Given the description of an element on the screen output the (x, y) to click on. 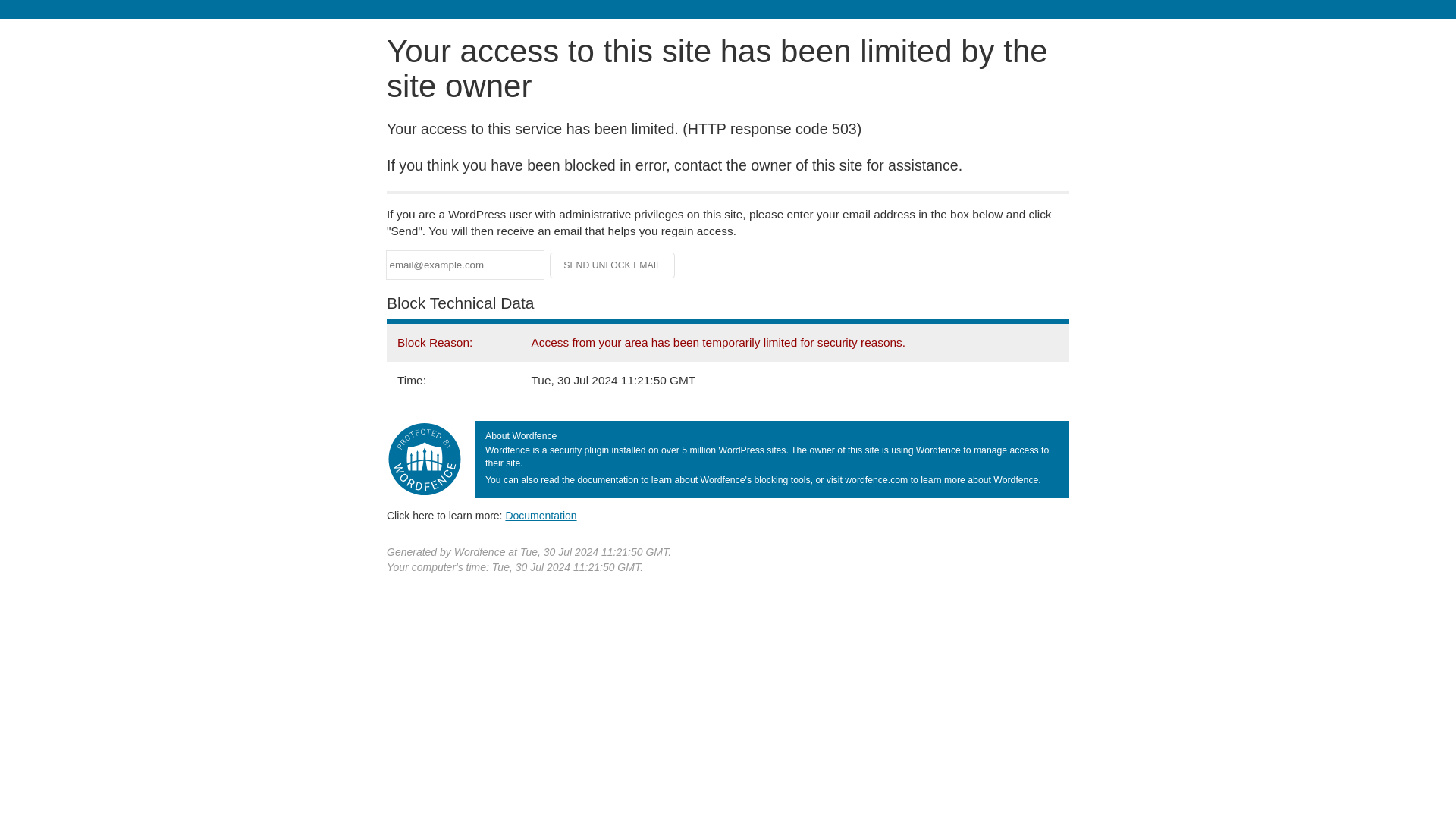
Send Unlock Email (612, 265)
Send Unlock Email (612, 265)
Documentation (540, 515)
